Given the description of an element on the screen output the (x, y) to click on. 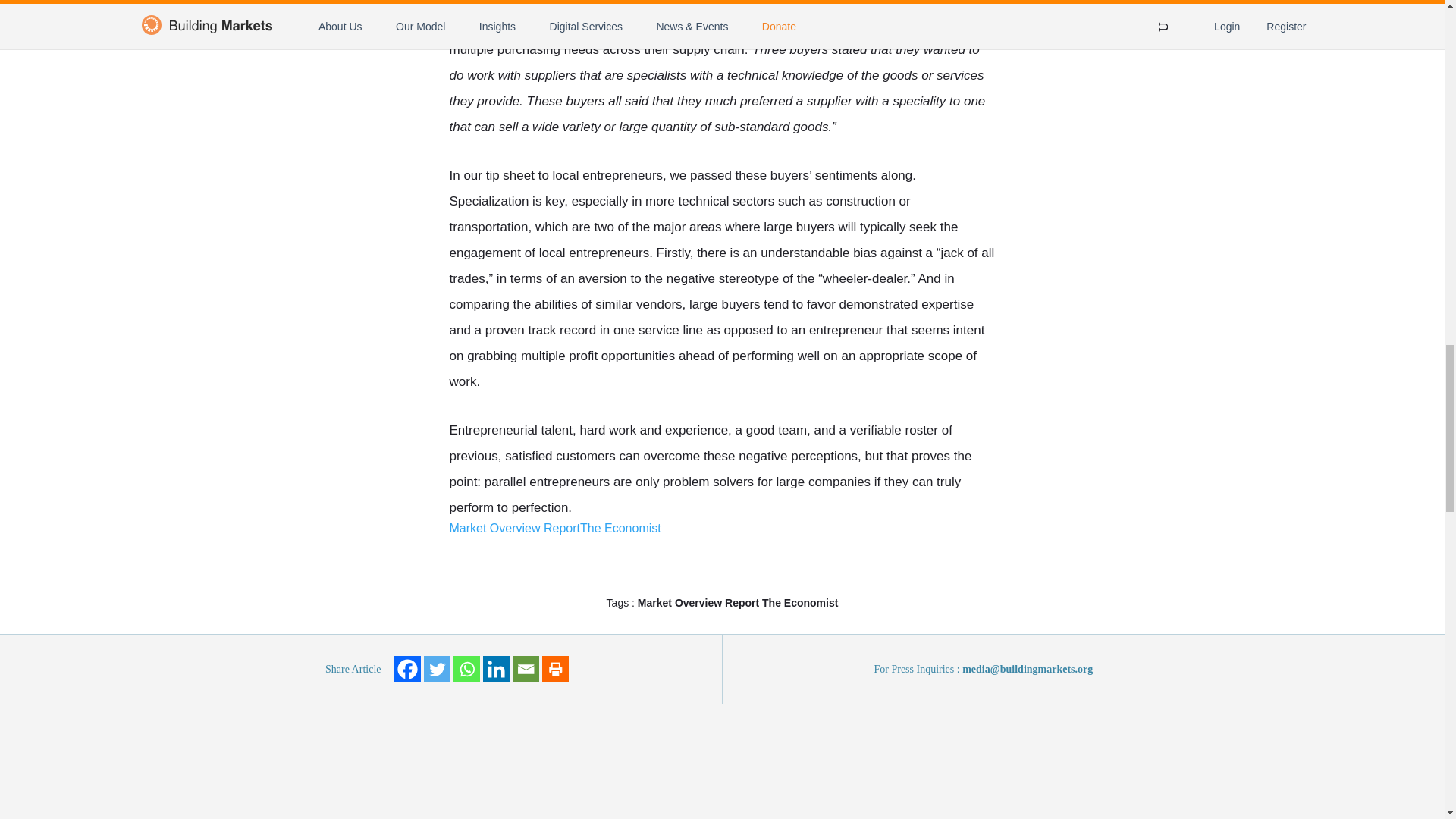
Twitter (436, 669)
Linkedin (494, 669)
Print (554, 669)
Whatsapp (466, 669)
Email (525, 669)
Facebook (407, 669)
